Given the description of an element on the screen output the (x, y) to click on. 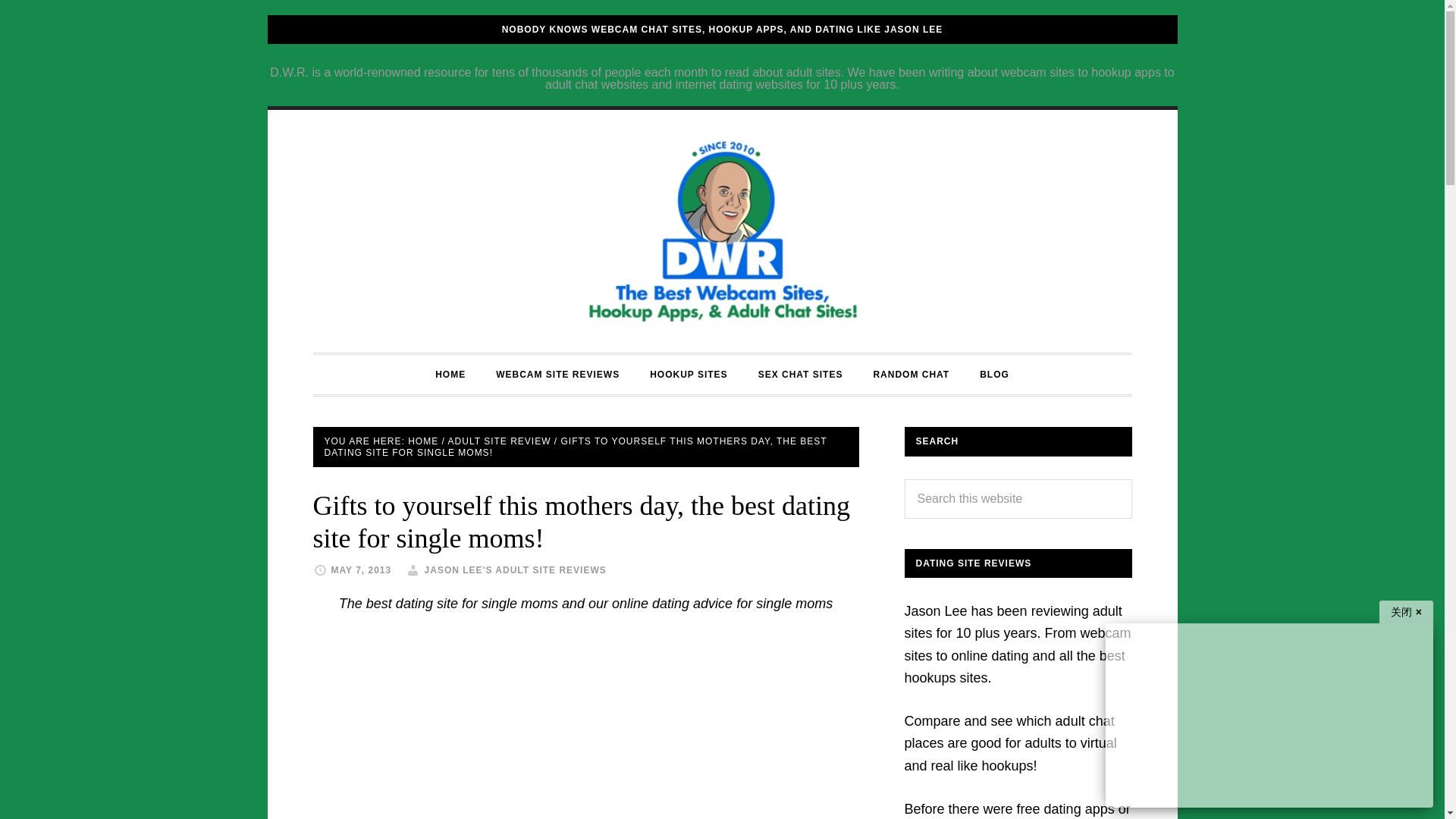
COMPARE ADULT SITES (721, 230)
SEX CHAT SITES (800, 373)
HOME (422, 440)
JASON LEE'S ADULT SITE REVIEWS (516, 570)
RANDOM CHAT (910, 373)
HOOKUP SITES (688, 373)
ADULT SITE REVIEW (499, 440)
HOME (450, 373)
WEBCAM SITE REVIEWS (557, 373)
